Given the description of an element on the screen output the (x, y) to click on. 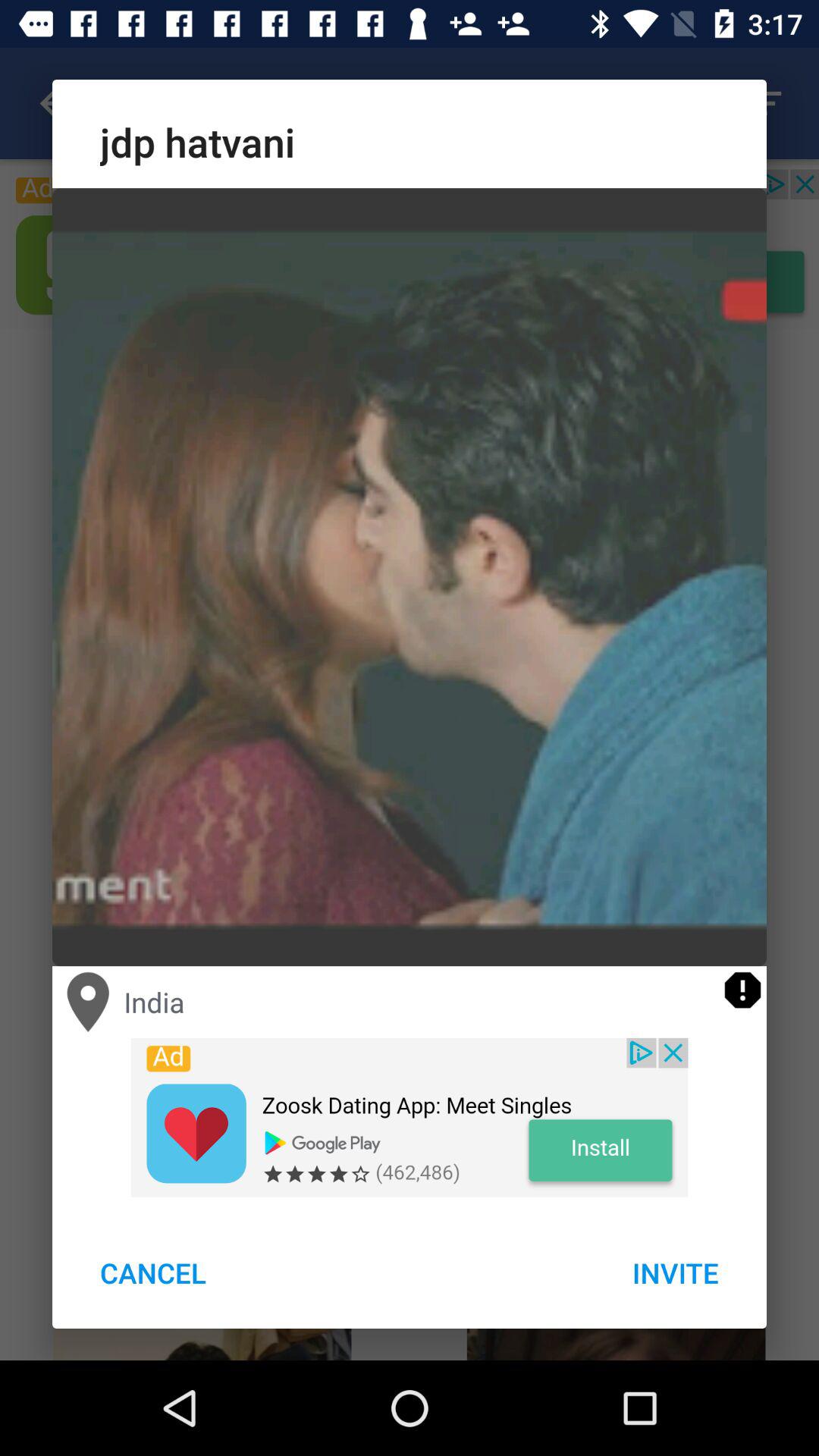
app advertisement (409, 1117)
